Given the description of an element on the screen output the (x, y) to click on. 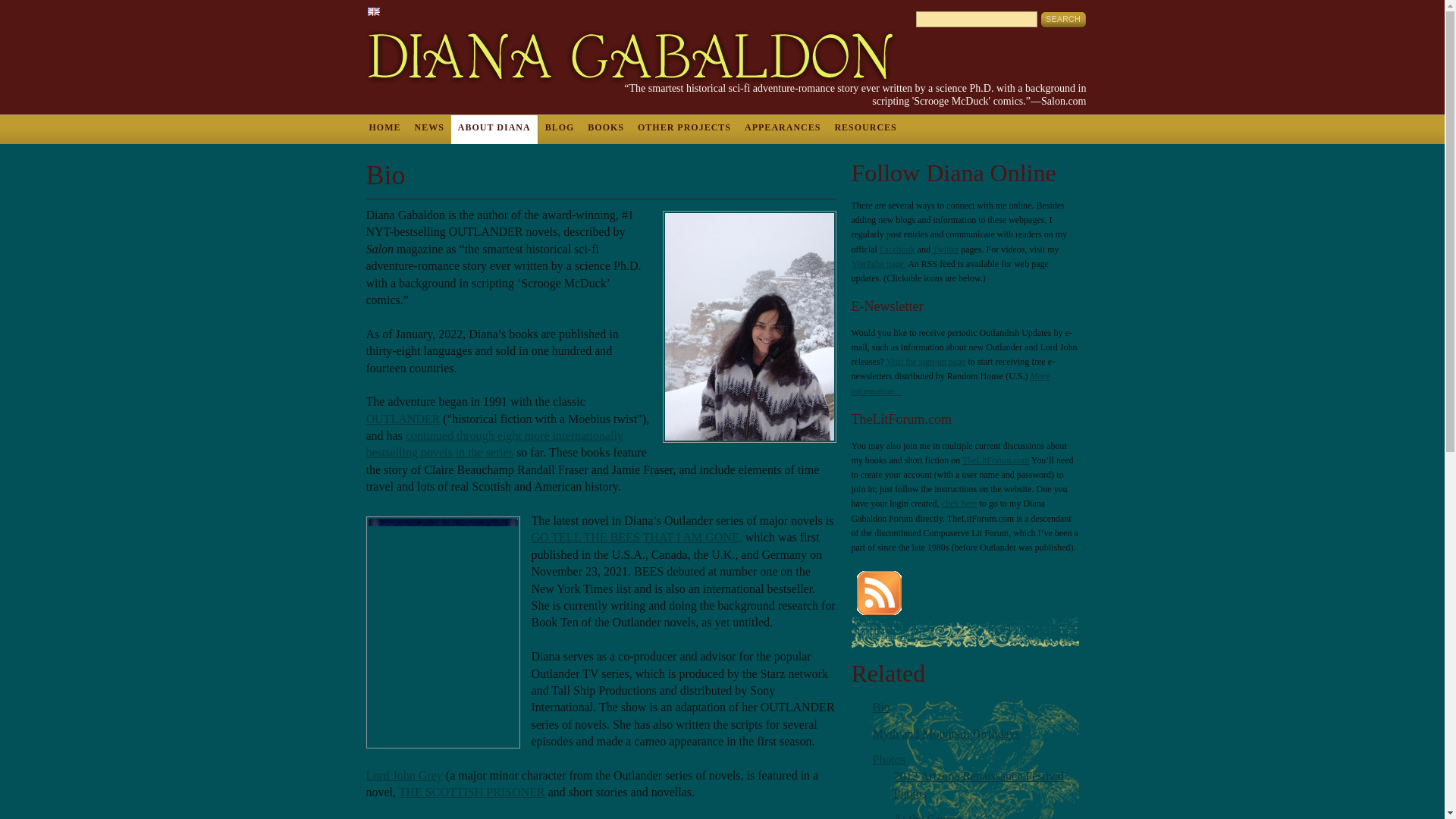
BOOKS (605, 129)
English (372, 11)
BLOG (559, 129)
German version (392, 11)
German (392, 11)
HOME (384, 129)
ABOUT DIANA (494, 129)
NEWS (429, 129)
English version (372, 11)
